Given the description of an element on the screen output the (x, y) to click on. 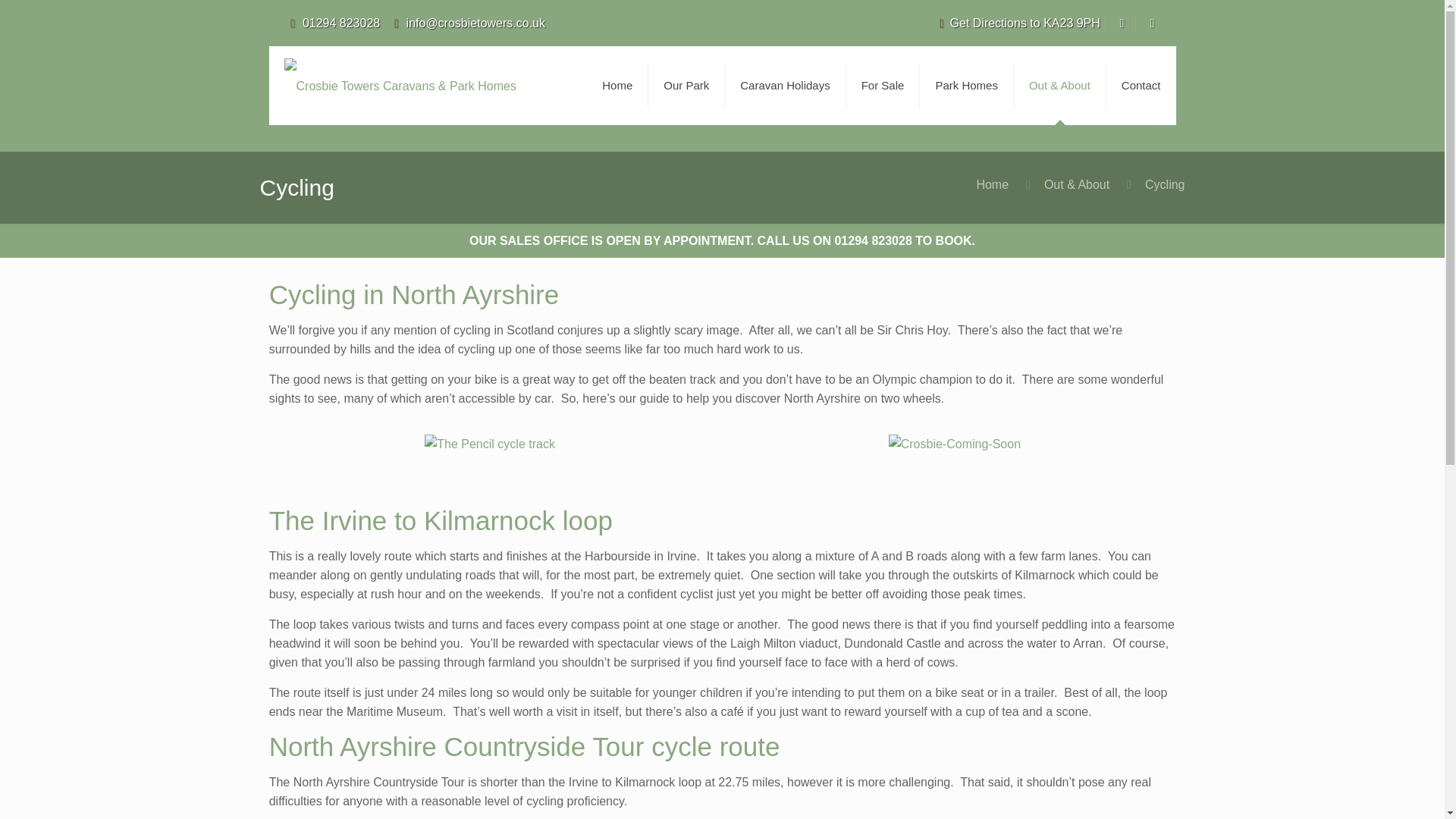
Caravan Holidays (785, 85)
Get Directions to KA23 9PH (1016, 22)
Crosbie Towers (399, 85)
Our Park (686, 85)
01294 823028 (341, 22)
For Sale (882, 85)
Park Homes (966, 85)
Home (992, 184)
Crosbie-Coming-Soon (954, 443)
The Pencil cycle track (489, 443)
